Given the description of an element on the screen output the (x, y) to click on. 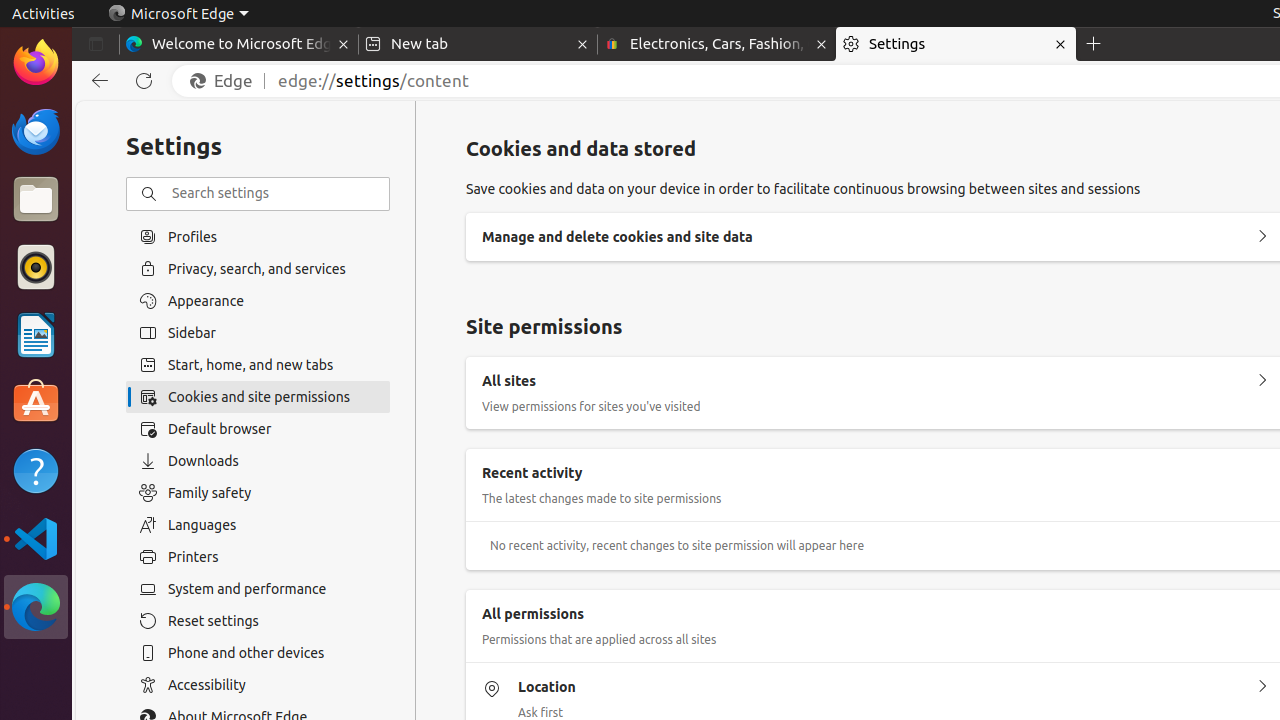
Tab actions menu Element type: push-button (96, 44)
Start, home, and new tabs Element type: tree-item (258, 365)
Visual Studio Code Element type: push-button (36, 538)
Privacy, search, and services Element type: tree-item (258, 268)
Default browser Element type: tree-item (258, 429)
